Given the description of an element on the screen output the (x, y) to click on. 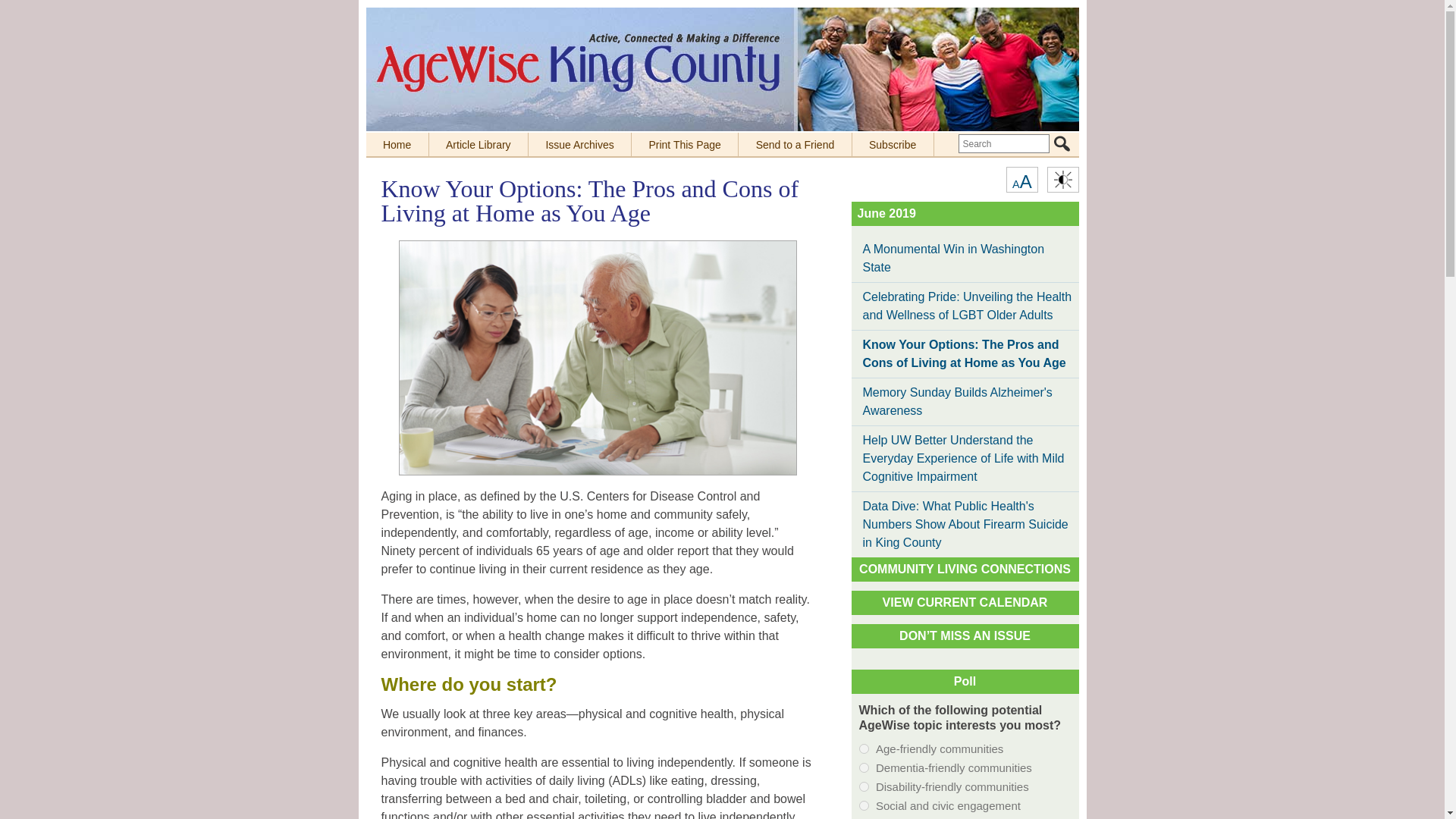
Search (1061, 143)
Memory Sunday Builds Alzheimer's Awareness (1022, 179)
Dementia-friendly communities (964, 401)
Search (863, 767)
Print This Page (1061, 143)
VIEW CURRENT CALENDAR (684, 144)
Send your friends e-mail about this page (965, 602)
Home (794, 144)
A Monumental Win in Washington State (396, 144)
High Contrast (964, 258)
COMMUNITY LIVING CONNECTIONS (1062, 179)
